Given the description of an element on the screen output the (x, y) to click on. 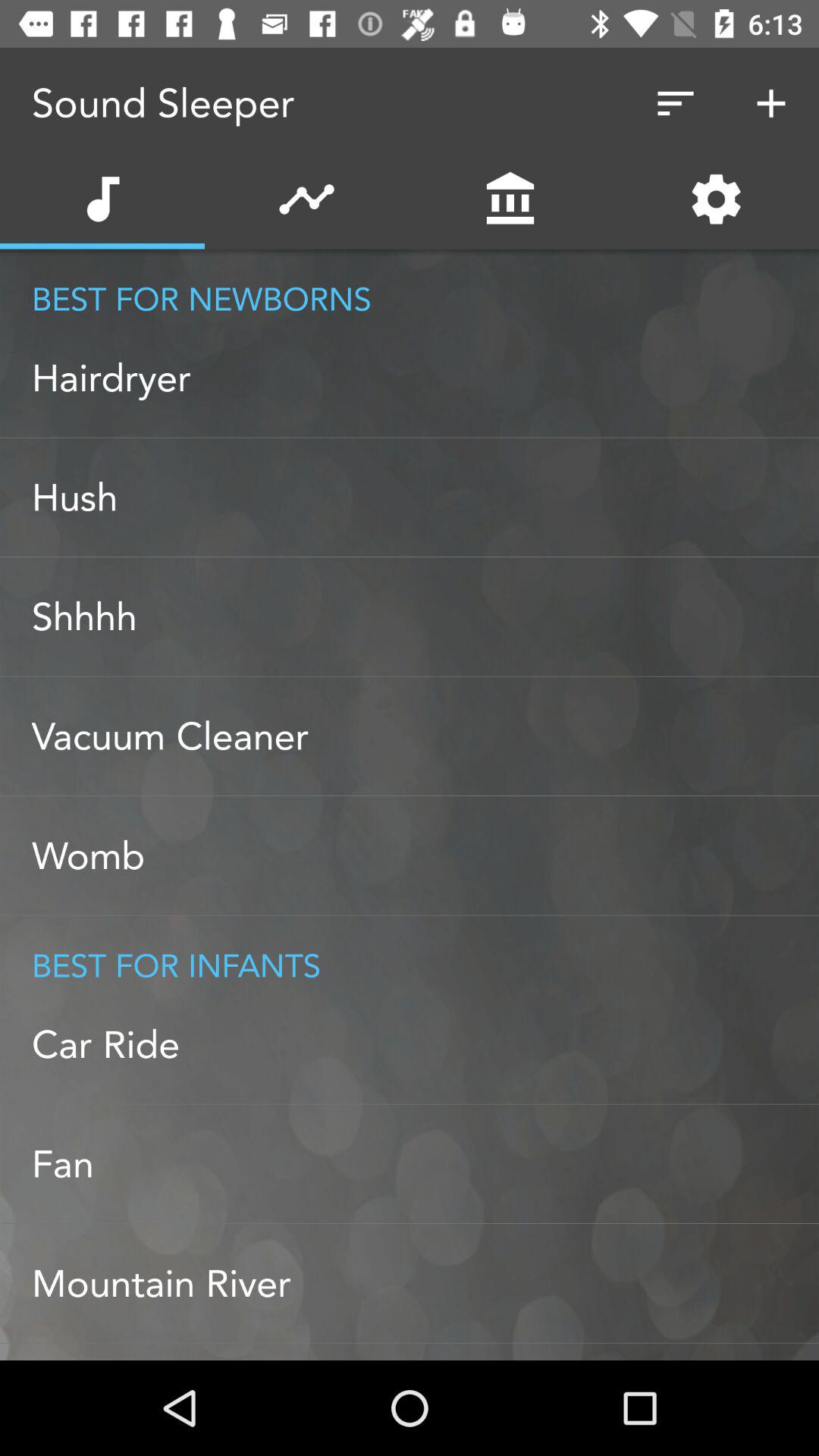
open the womb icon (425, 855)
